Given the description of an element on the screen output the (x, y) to click on. 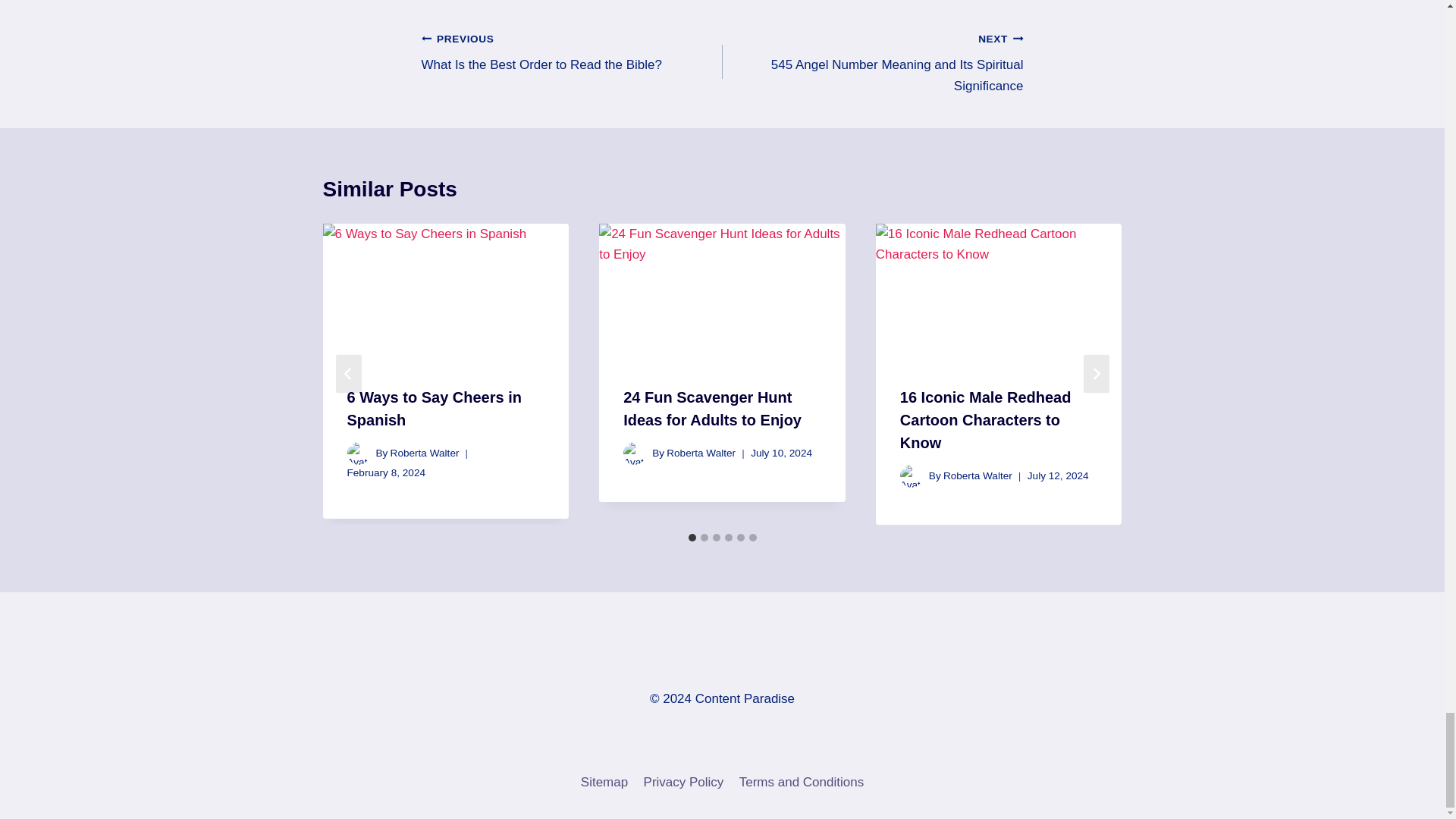
6 Ways to Say Cheers in Spanish (872, 61)
24 Fun Scavenger Hunt Ideas for Adults to Enjoy (434, 408)
Roberta Walter (712, 408)
Roberta Walter (572, 51)
